Given the description of an element on the screen output the (x, y) to click on. 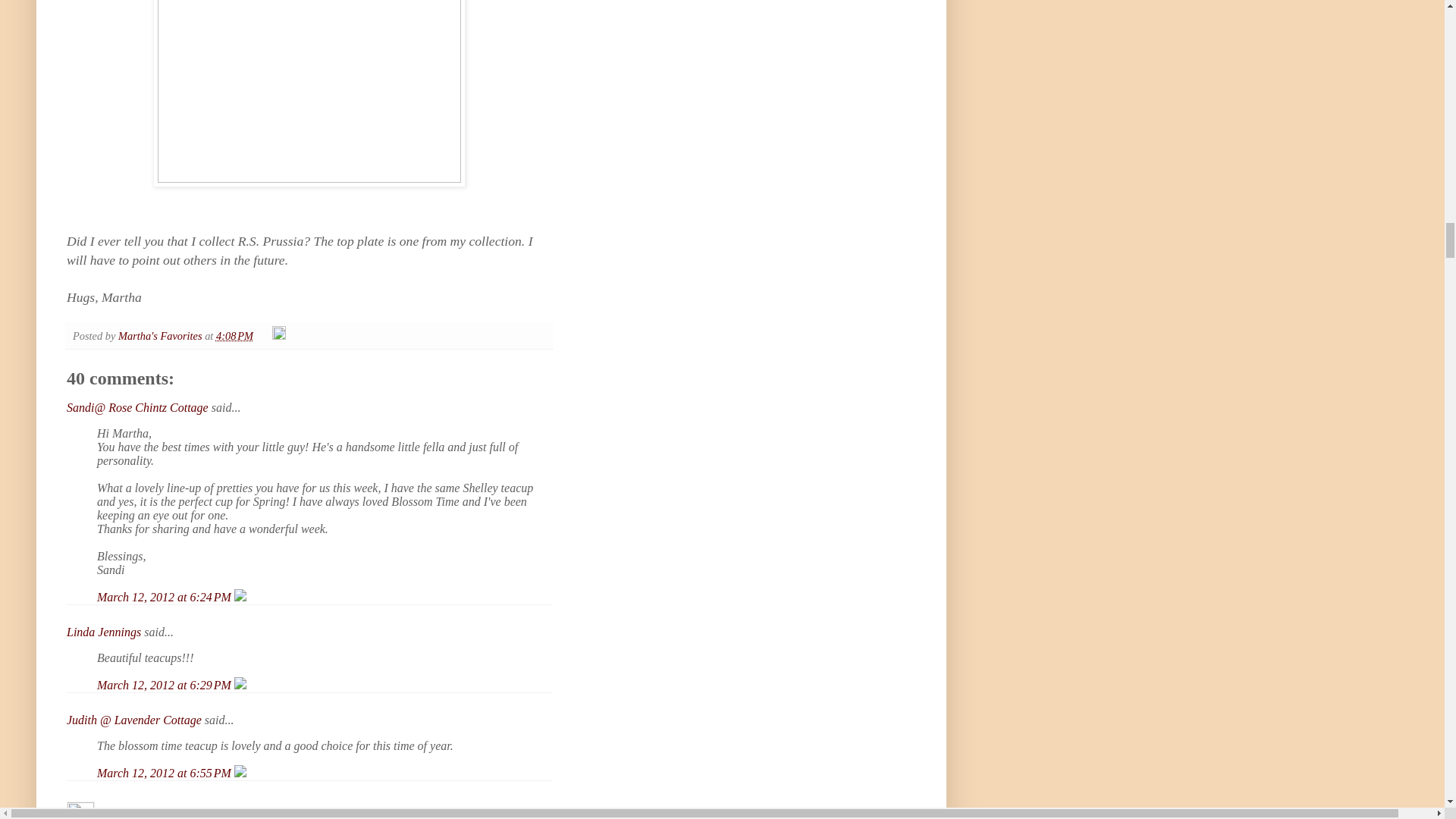
Delete Comment (240, 596)
Delete Comment (240, 684)
Martha's Favorites (161, 336)
Email Post (264, 336)
Linda Jennings (103, 631)
author profile (161, 336)
permanent link (234, 336)
Edit Post (278, 336)
comment permalink (165, 684)
comment permalink (165, 772)
highheeledlife (80, 810)
comment permalink (165, 596)
